Given the description of an element on the screen output the (x, y) to click on. 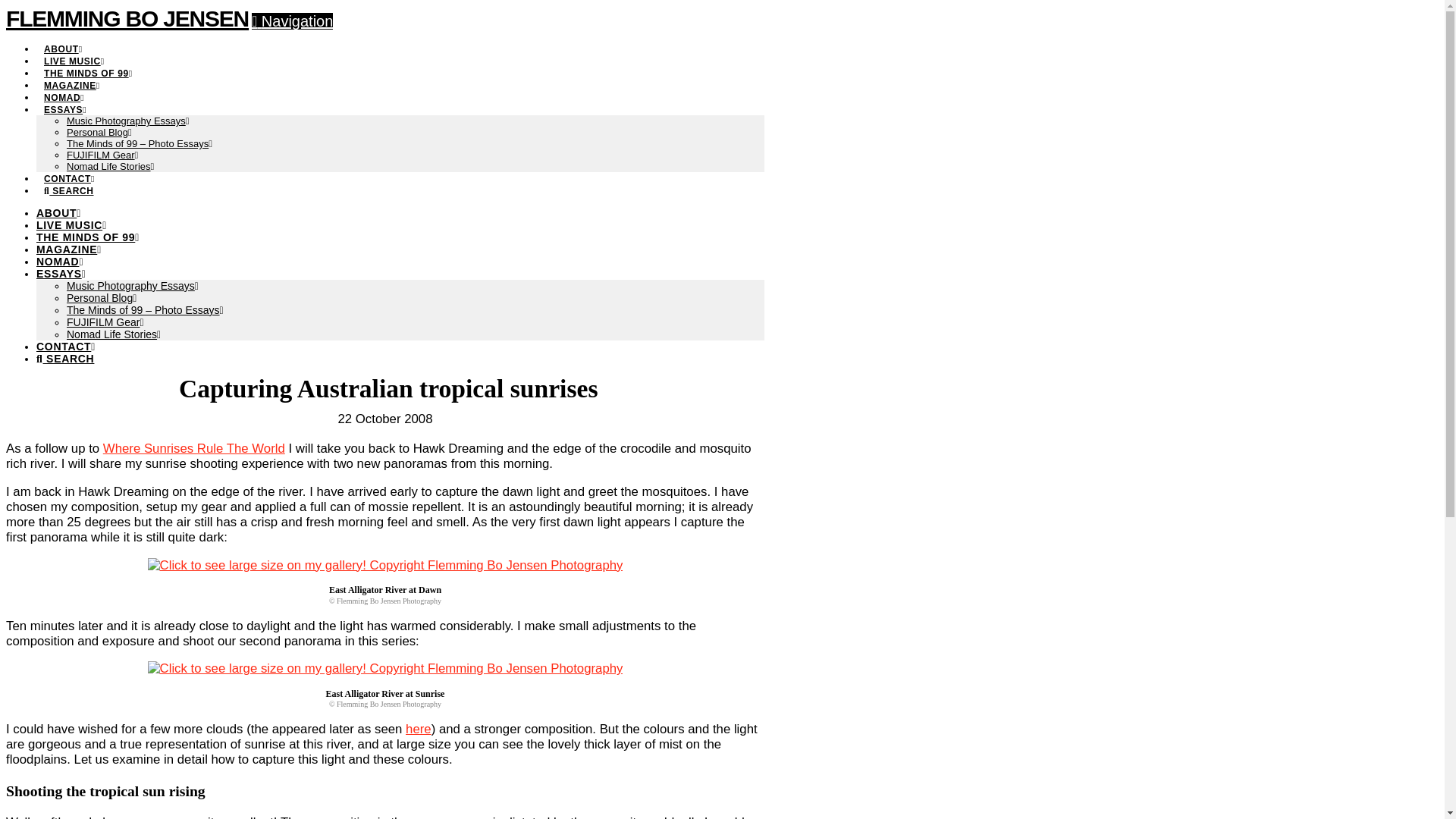
Personal Blog (99, 132)
MAGAZINE (68, 249)
Nomad Life Stories (110, 165)
Music Photography Essays (132, 285)
SEARCH (65, 358)
THE MINDS OF 99 (87, 236)
ABOUT (62, 41)
Navigation (292, 21)
NOMAD (63, 89)
CONTACT (66, 346)
